Given the description of an element on the screen output the (x, y) to click on. 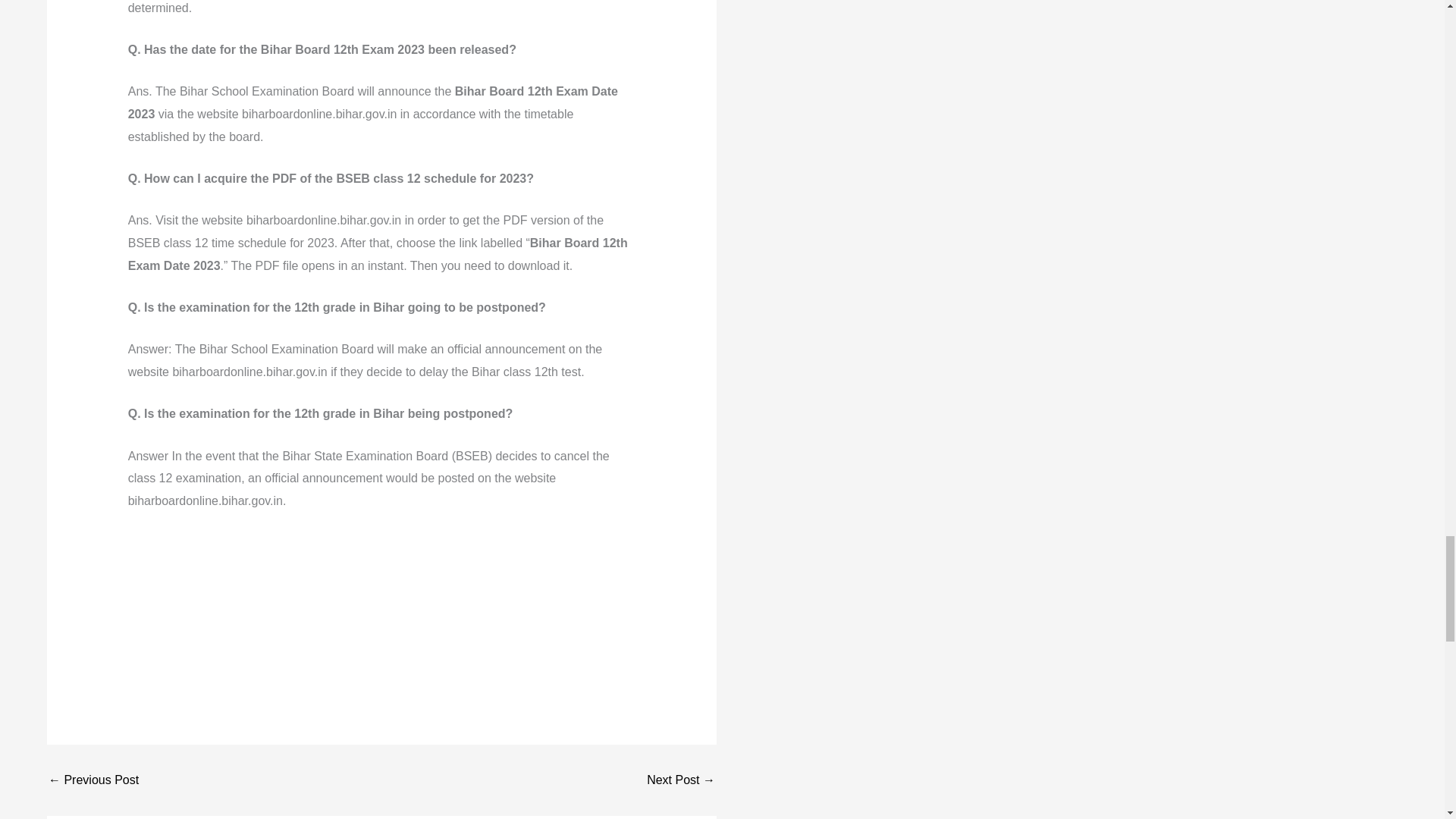
Bihar Board 10th Exam Date 2023 PDF Download (93, 779)
